Given the description of an element on the screen output the (x, y) to click on. 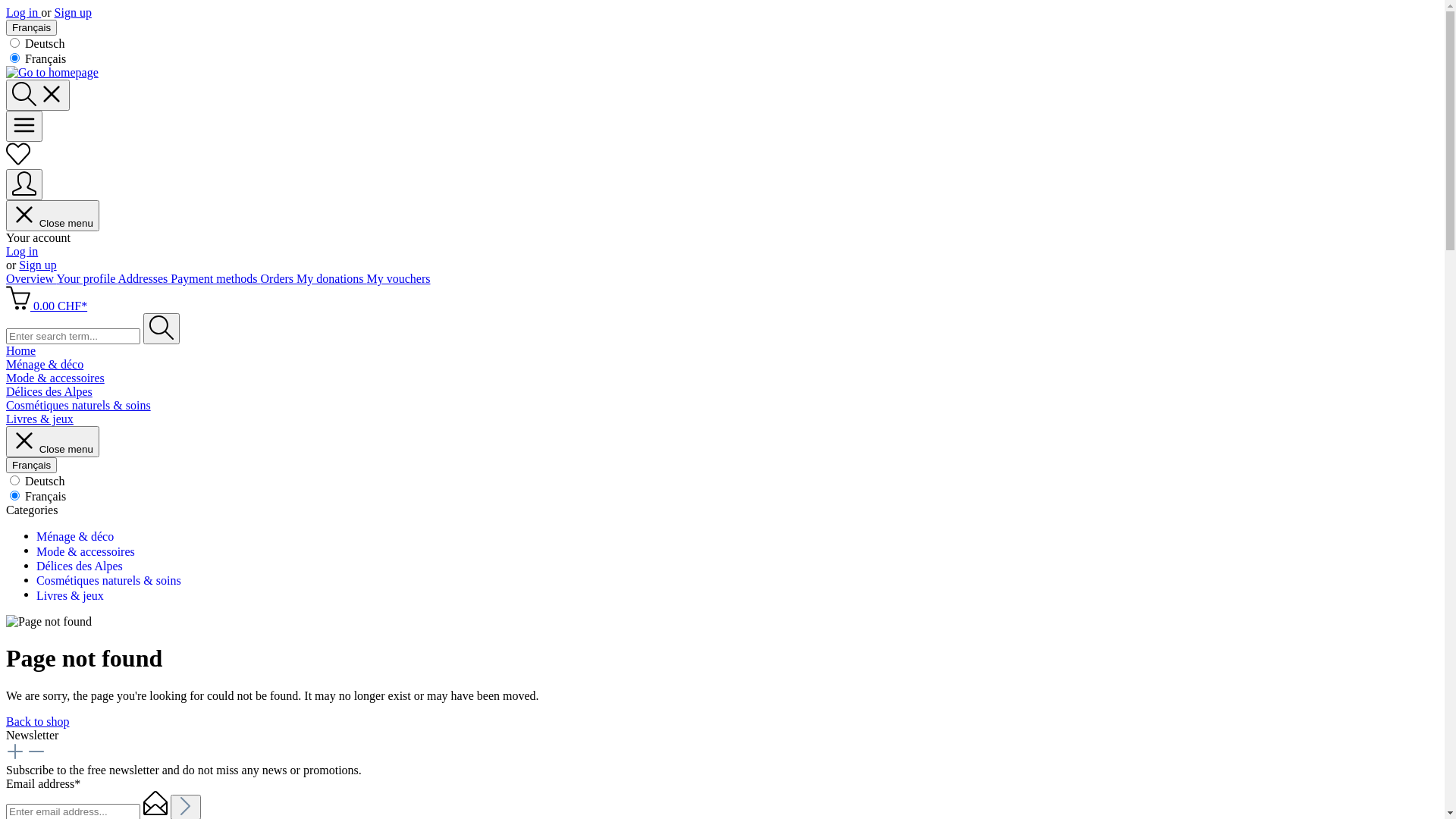
Mode & accessoires Element type: text (85, 549)
Close menu Element type: text (52, 441)
Your account Element type: hover (24, 184)
Home Element type: text (722, 350)
Livres & jeux Element type: text (722, 419)
My donations Element type: text (331, 278)
Addresses Element type: text (144, 278)
My vouchers Element type: text (398, 278)
Sign up Element type: text (37, 264)
Sign up Element type: text (72, 12)
Your profile Element type: text (86, 278)
Log in Element type: text (21, 250)
Log in Element type: text (23, 12)
Overview Element type: text (31, 278)
Livres & jeux Element type: text (69, 593)
Wishlist Element type: hover (18, 161)
Close menu Element type: text (52, 215)
0.00 CHF* Element type: text (46, 305)
Back to shop Element type: text (37, 721)
Payment methods Element type: text (215, 278)
Mode & accessoires Element type: text (722, 378)
Go to homepage Element type: hover (52, 71)
Orders Element type: text (278, 278)
